Given the description of an element on the screen output the (x, y) to click on. 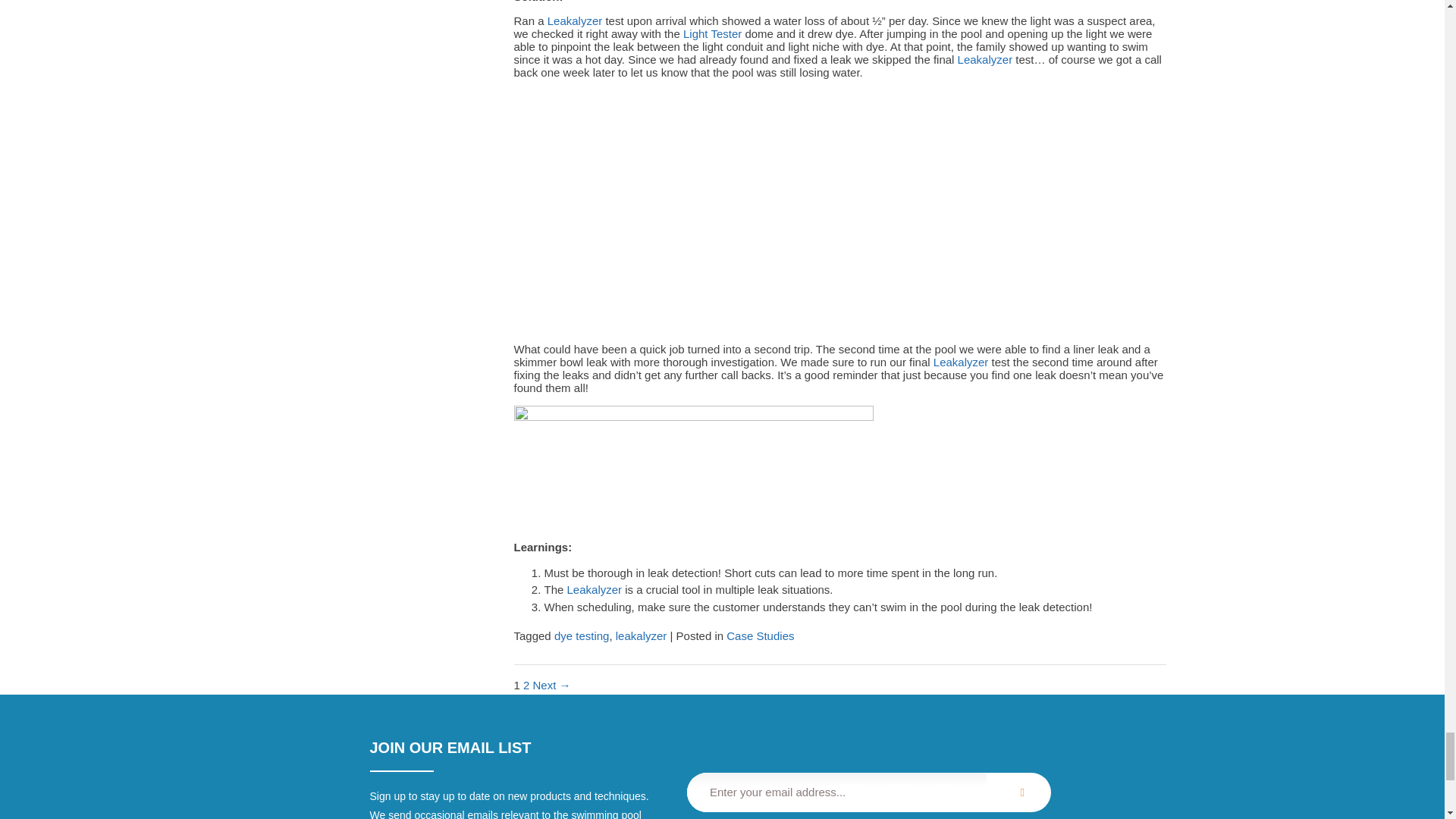
Submit (1019, 792)
Submit (1019, 792)
